Given the description of an element on the screen output the (x, y) to click on. 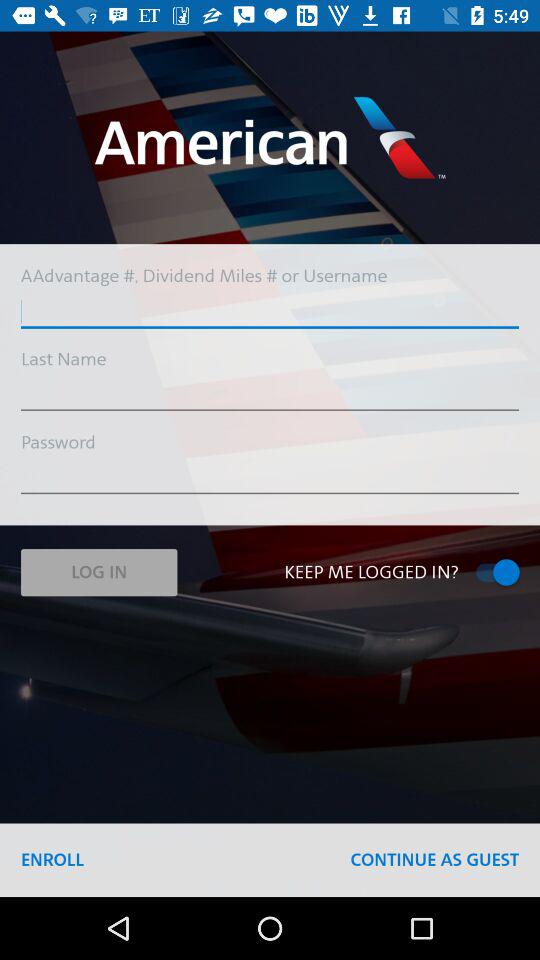
tap the icon to the left of the continue as guest icon (52, 859)
